Given the description of an element on the screen output the (x, y) to click on. 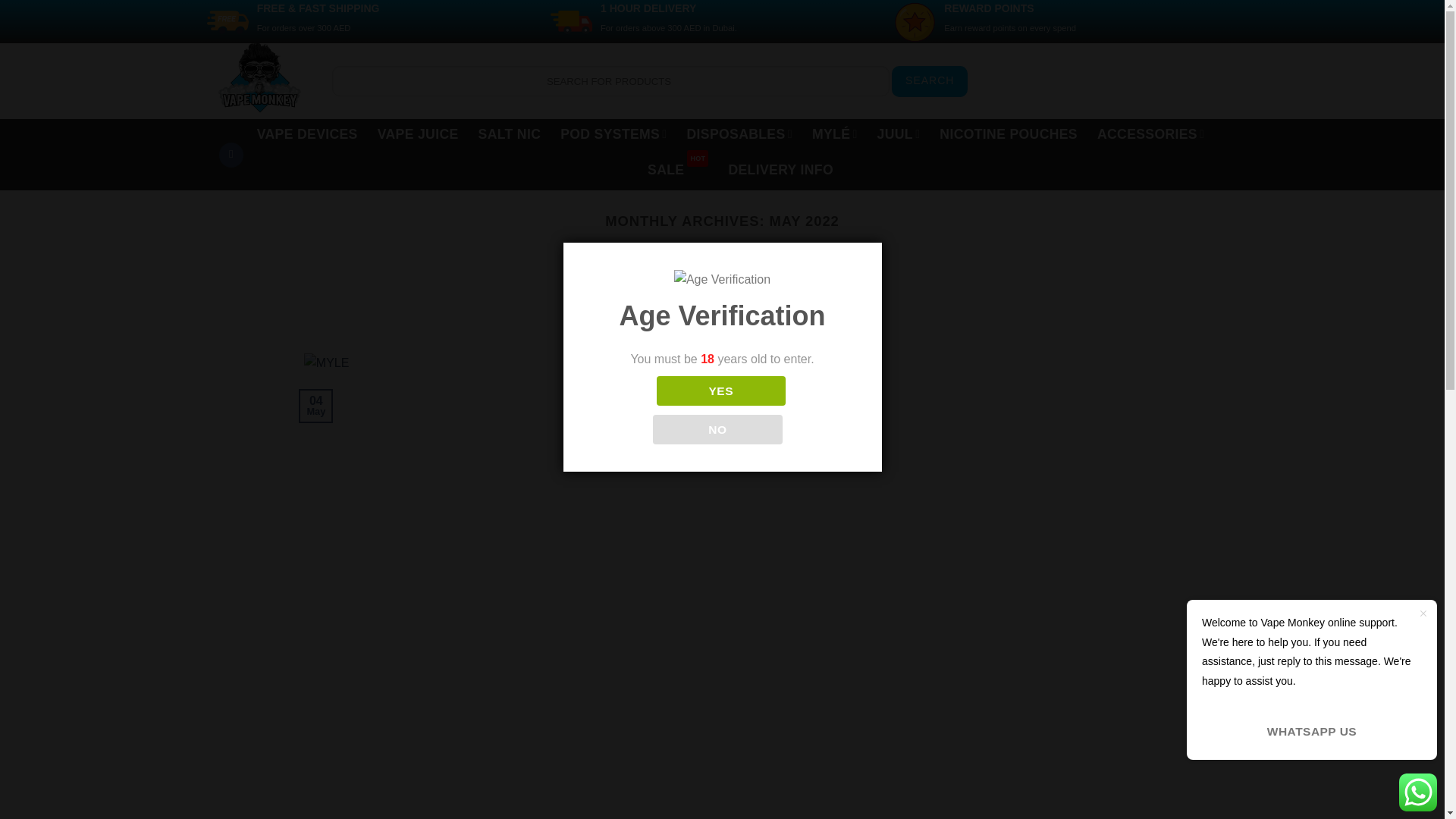
Cart (1142, 80)
VAPE JUICE (417, 134)
DISPOSABLES (739, 133)
Vape Monkey Dubai - The online vape store in Dubai (263, 77)
Search (929, 81)
POD SYSTEMS (613, 133)
Search (929, 81)
SALT NIC (510, 134)
VAPE DEVICES (307, 134)
